Given the description of an element on the screen output the (x, y) to click on. 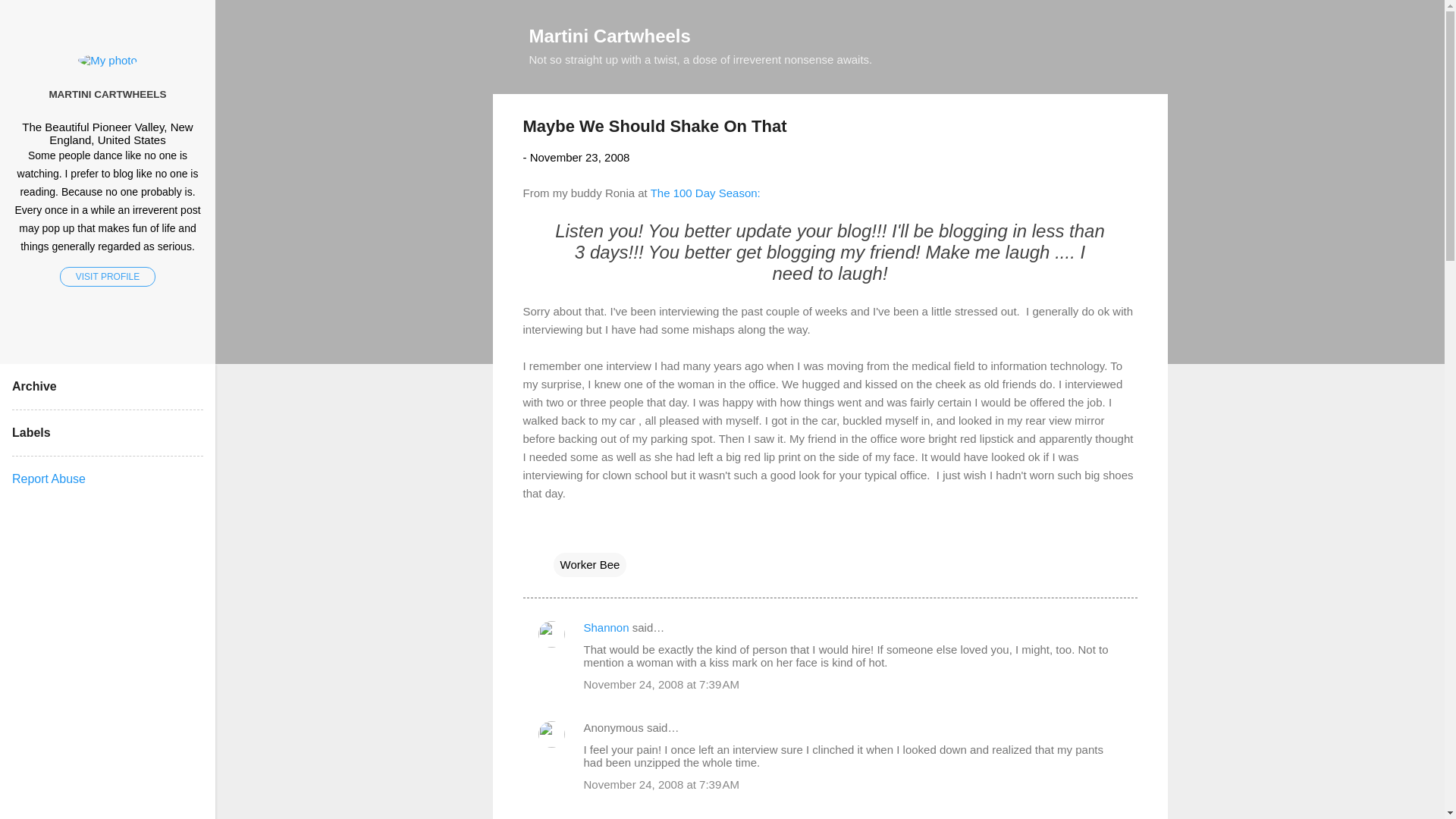
Worker Bee (590, 564)
permanent link (579, 156)
Search (29, 18)
The 100 Day Season: (705, 192)
Shannon (605, 626)
comment permalink (661, 684)
November 23, 2008 (579, 156)
Martini Cartwheels (609, 35)
